Given the description of an element on the screen output the (x, y) to click on. 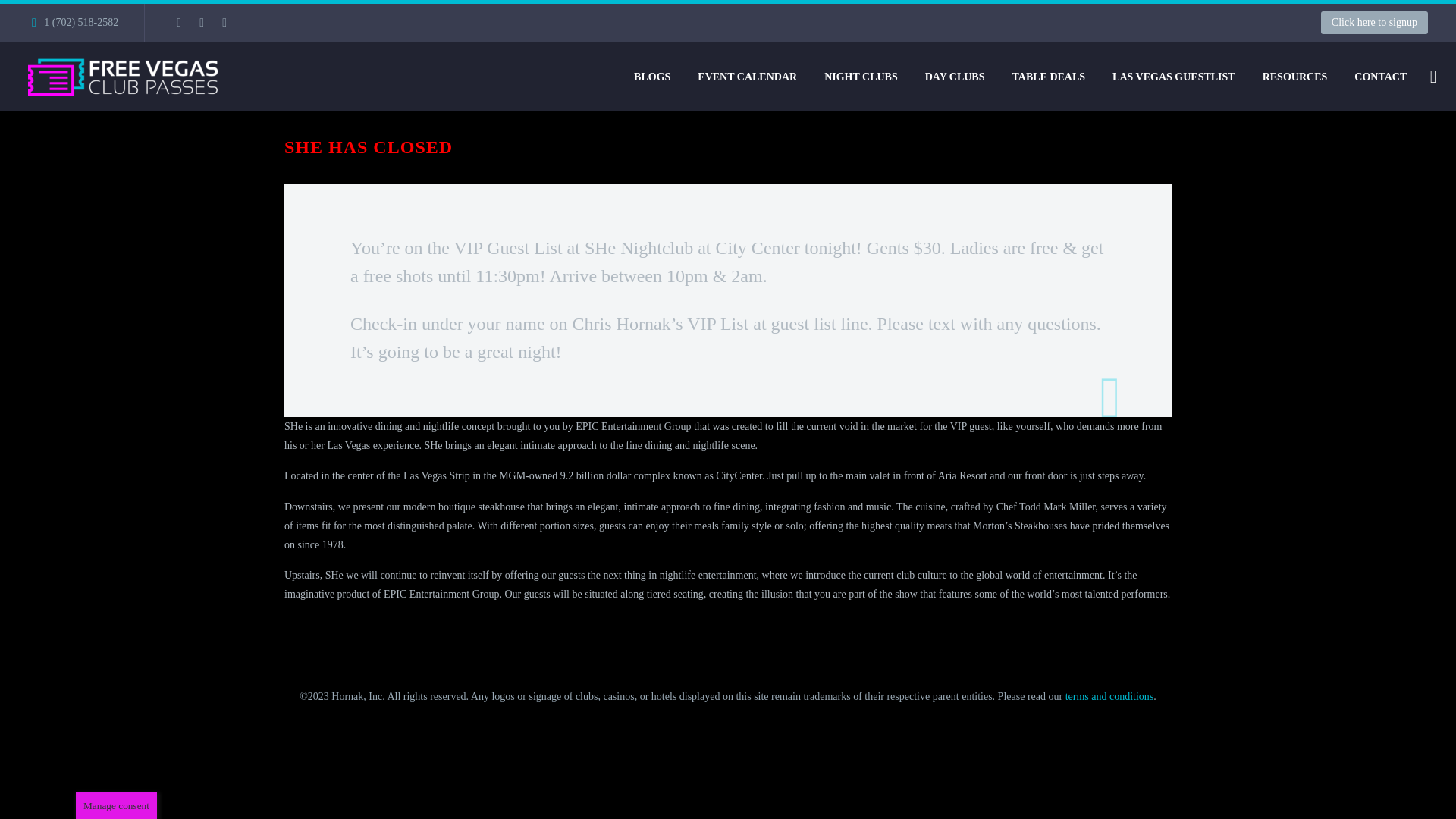
EVENT CALENDAR (746, 76)
NIGHT CLUBS (860, 76)
LAS VEGAS GUESTLIST (1173, 76)
BLOGS (652, 76)
Click here to signup (1374, 22)
Facebook (178, 22)
DAY CLUBS (954, 76)
Twitter (201, 22)
TABLE DEALS (1048, 76)
terms and conditions (1109, 696)
RESOURCES (1294, 76)
Yelp (223, 22)
CONTACT (1380, 76)
